Given the description of an element on the screen output the (x, y) to click on. 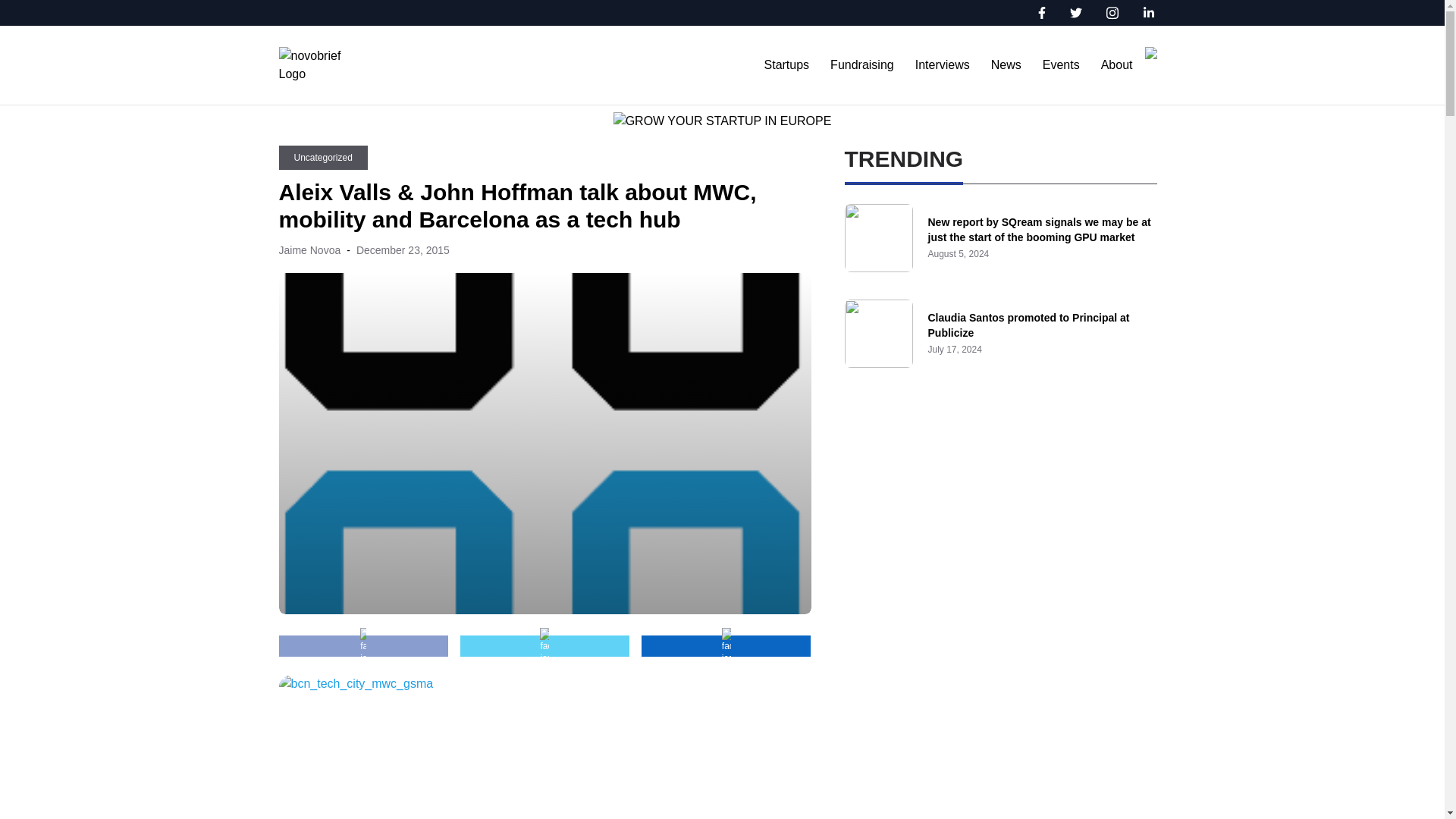
Uncategorized (323, 157)
About (1116, 64)
Startups (786, 64)
Events (1061, 64)
Interviews (942, 64)
Jaime Novoa (309, 250)
Fundraising (861, 64)
News (1006, 64)
